Given the description of an element on the screen output the (x, y) to click on. 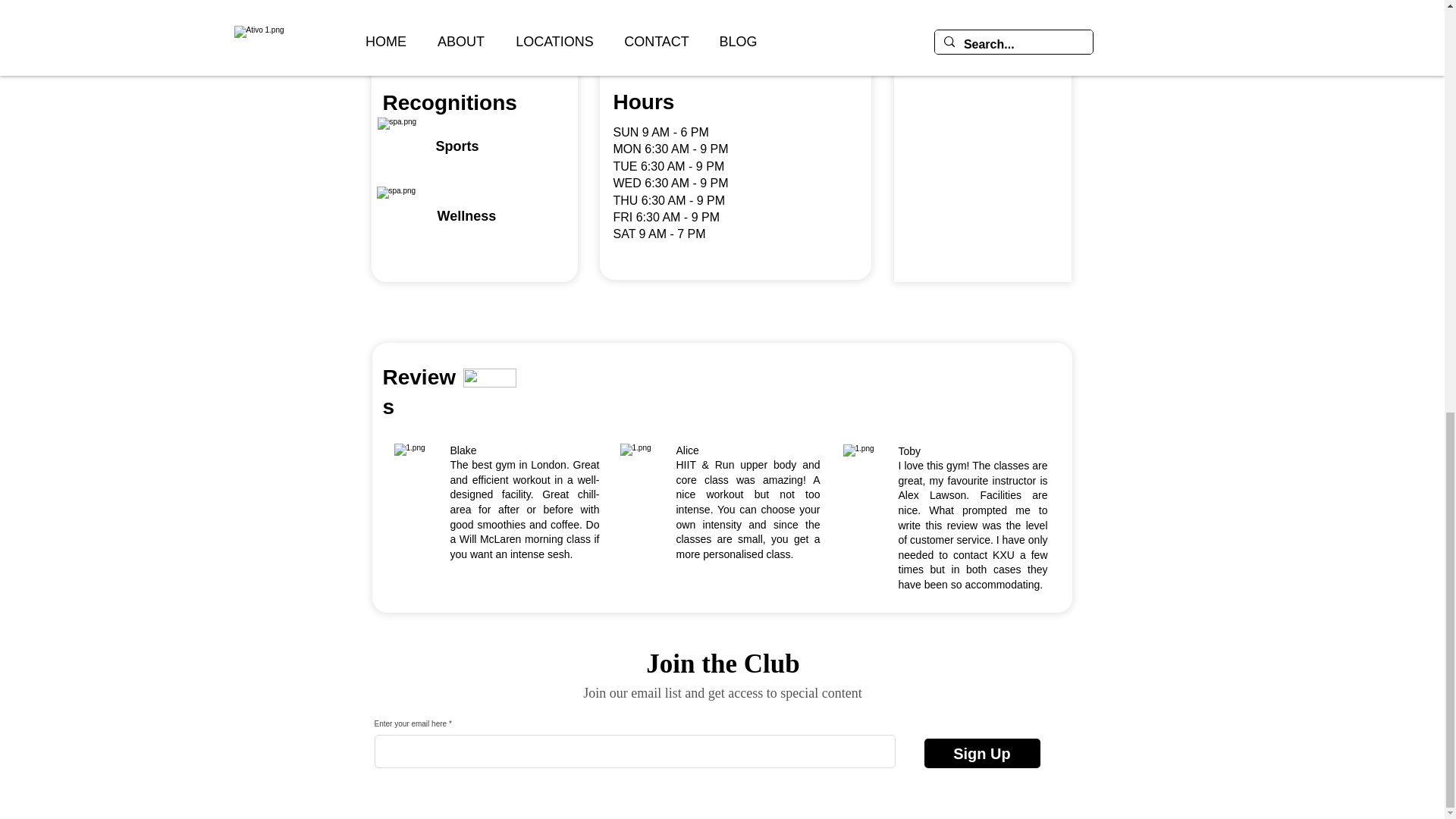
Website  (635, 46)
Wellness Advocate.png (405, 215)
sport.png (406, 146)
3.png (503, 35)
4.png (408, 35)
Sign Up (981, 753)
